Given the description of an element on the screen output the (x, y) to click on. 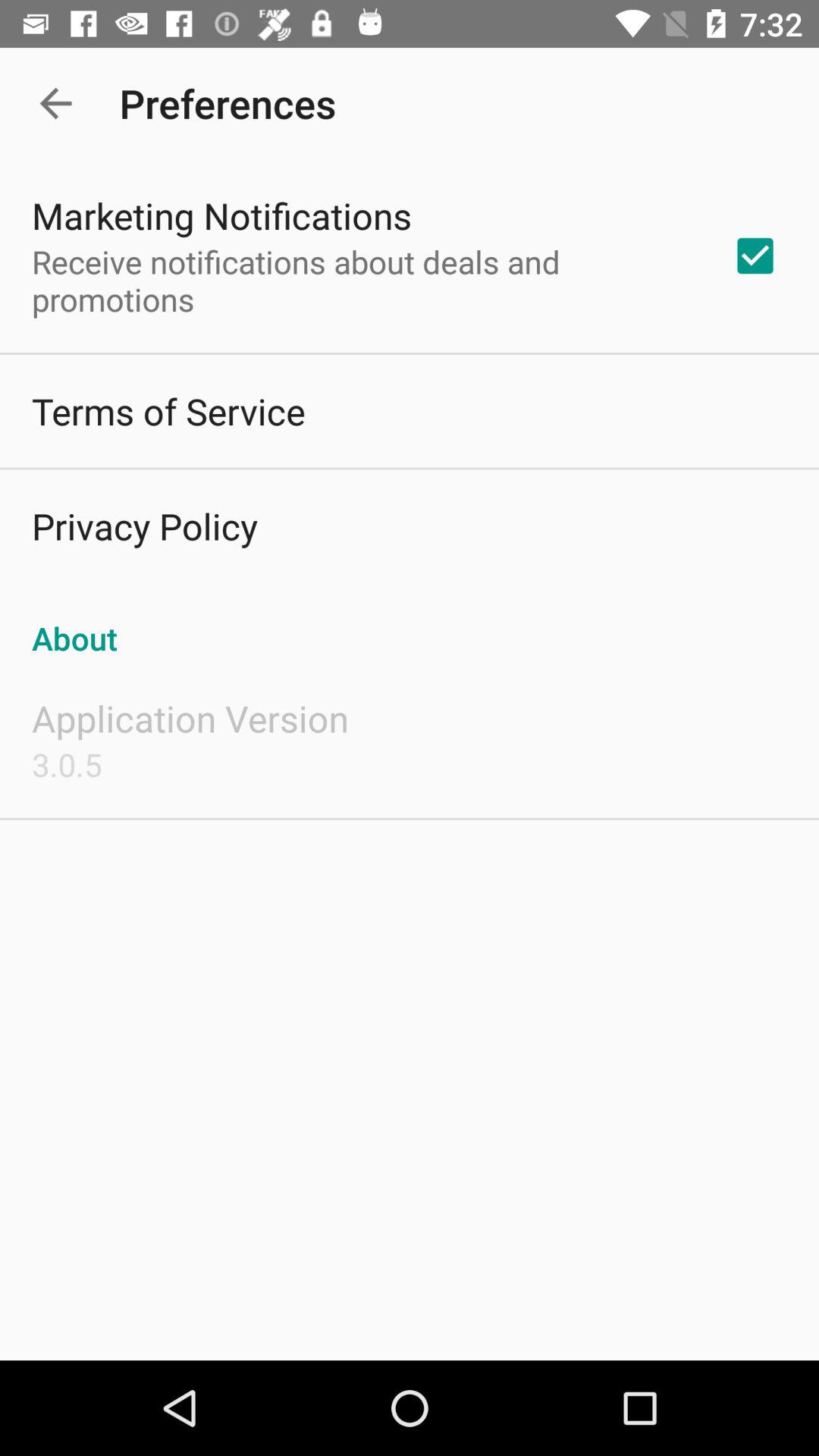
click the terms of service item (168, 410)
